Given the description of an element on the screen output the (x, y) to click on. 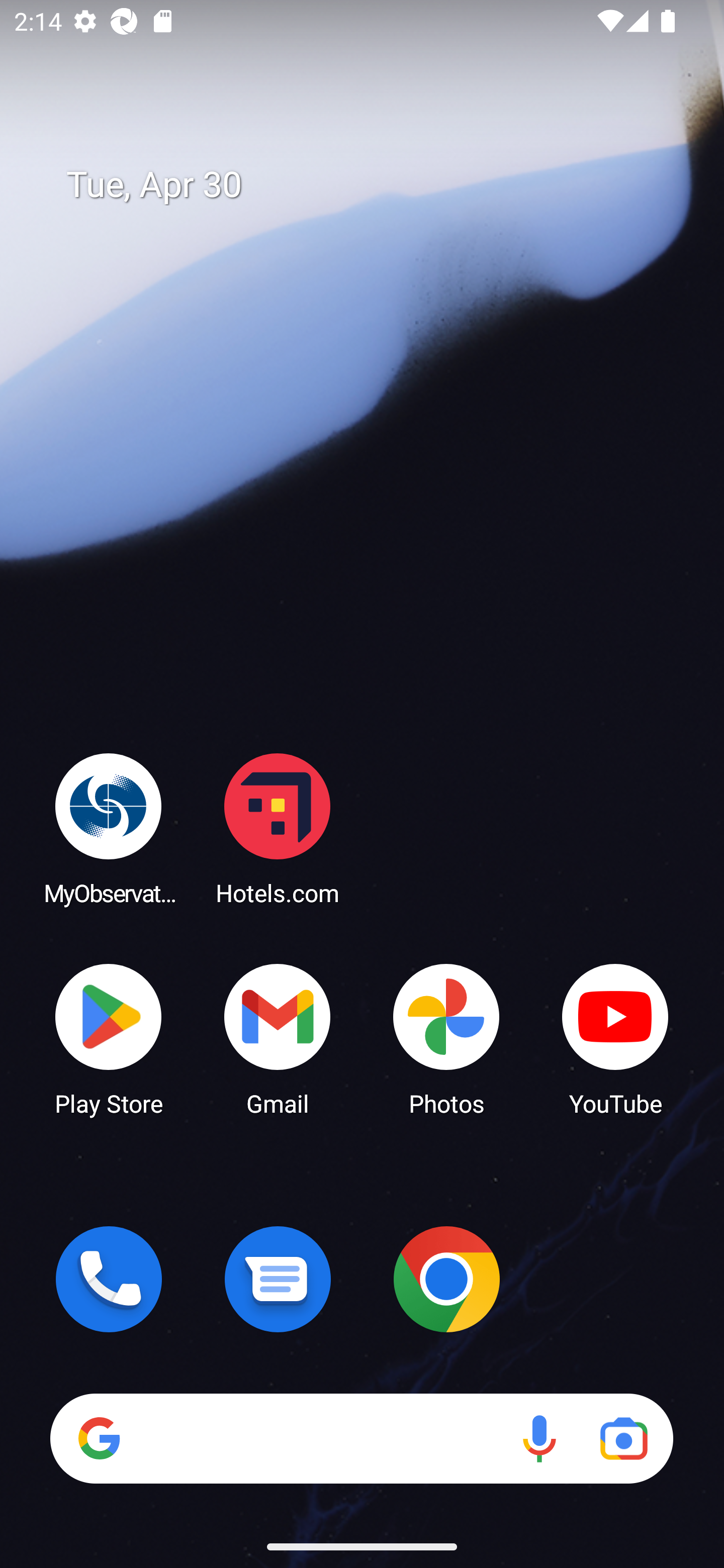
Tue, Apr 30 (375, 184)
MyObservatory (108, 828)
Hotels.com (277, 828)
Play Store (108, 1038)
Gmail (277, 1038)
Photos (445, 1038)
YouTube (615, 1038)
Phone (108, 1279)
Messages (277, 1279)
Chrome (446, 1279)
Voice search (539, 1438)
Google Lens (623, 1438)
